Given the description of an element on the screen output the (x, y) to click on. 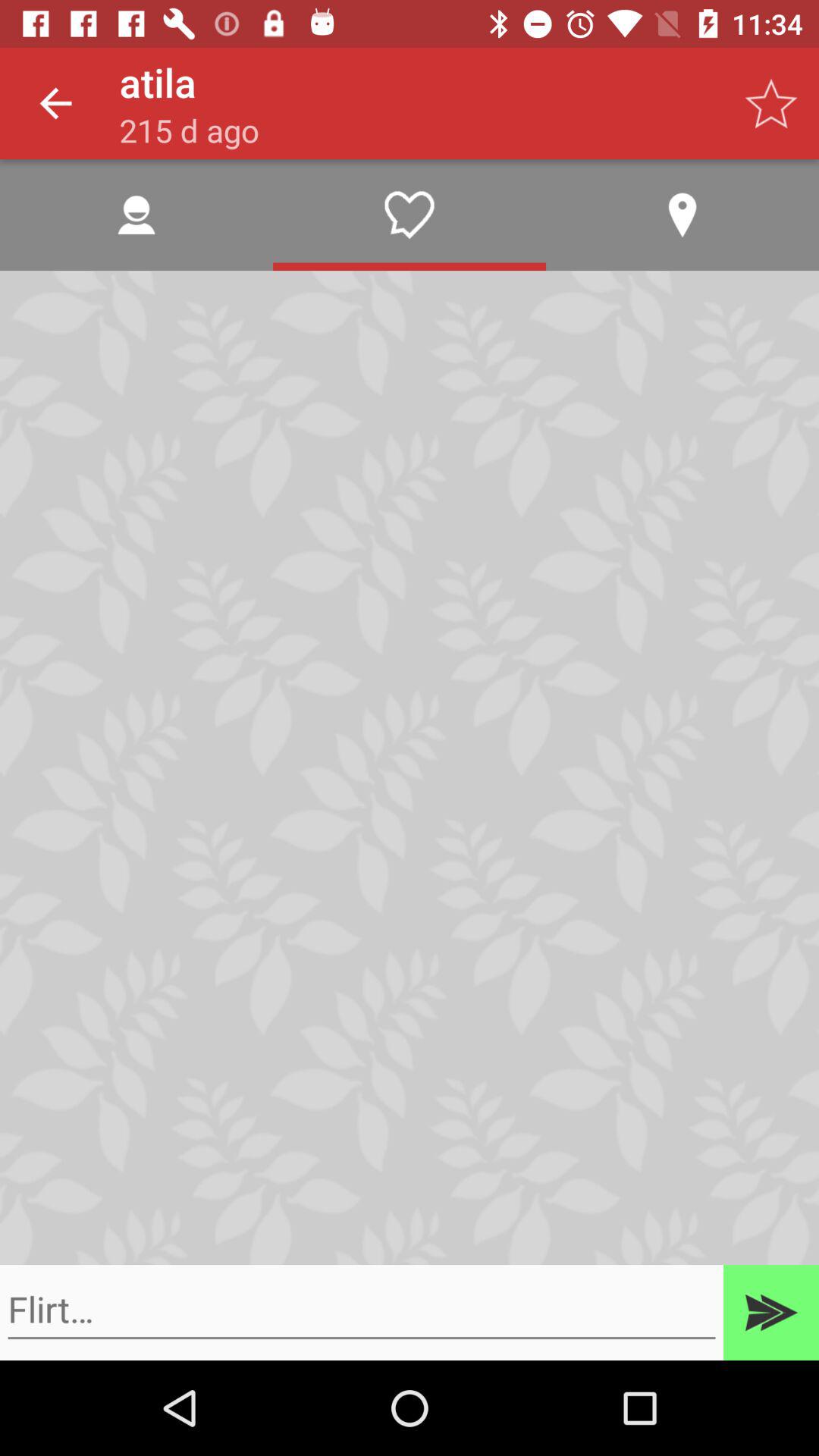
multi (771, 1312)
